Given the description of an element on the screen output the (x, y) to click on. 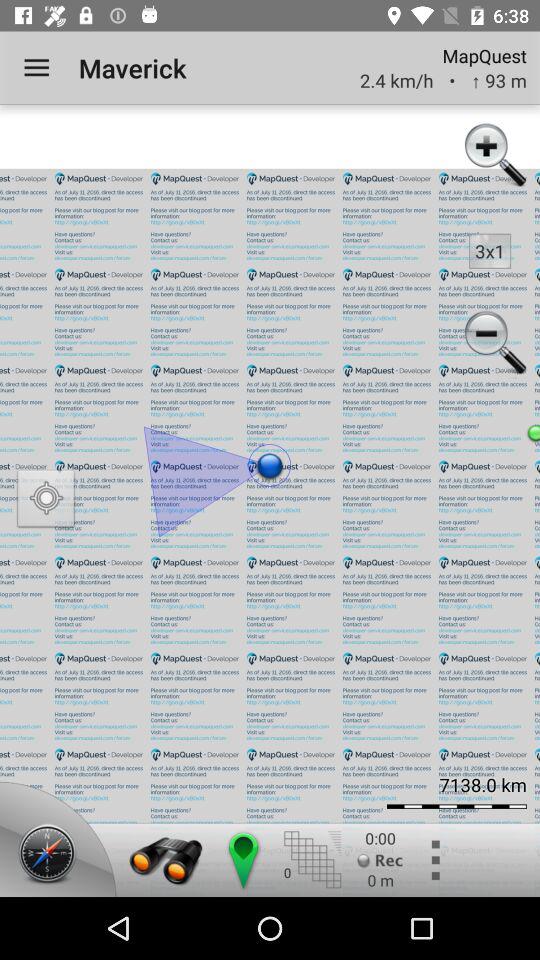
click icon next to maverick app (36, 68)
